Given the description of an element on the screen output the (x, y) to click on. 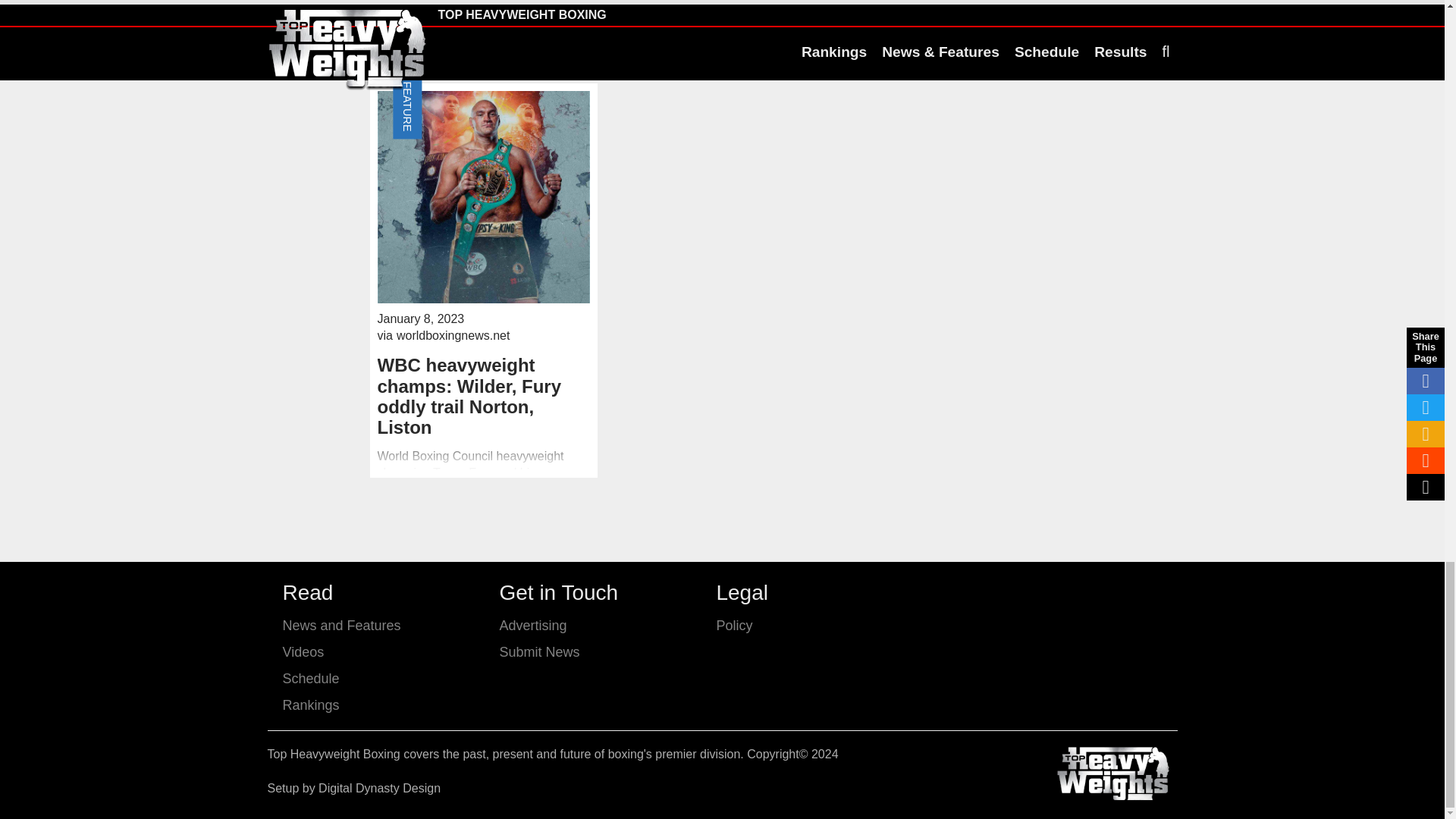
Rankings (310, 704)
Policy (734, 625)
Schedule (310, 678)
Videos (302, 652)
Submit News (539, 652)
News and Features (341, 625)
Advertising (532, 625)
